Given the description of an element on the screen output the (x, y) to click on. 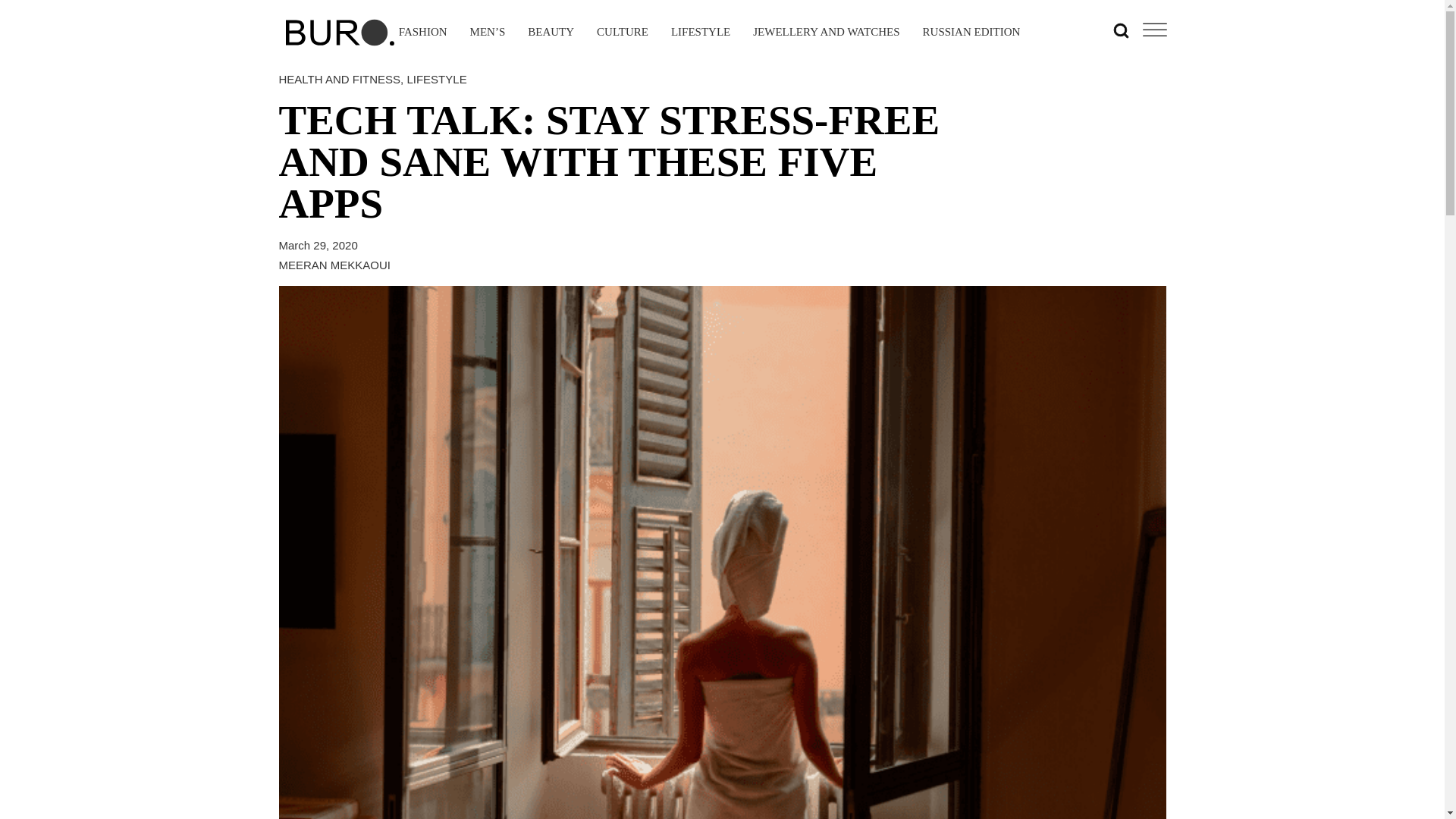
FASHION (422, 32)
HEALTH AND FITNESS (340, 78)
LIFESTYLE (700, 32)
MEERAN MEKKAOUI (335, 264)
JEWELLERY AND WATCHES (825, 32)
CULTURE (621, 32)
LIFESTYLE (435, 78)
BEAUTY (550, 32)
